Given the description of an element on the screen output the (x, y) to click on. 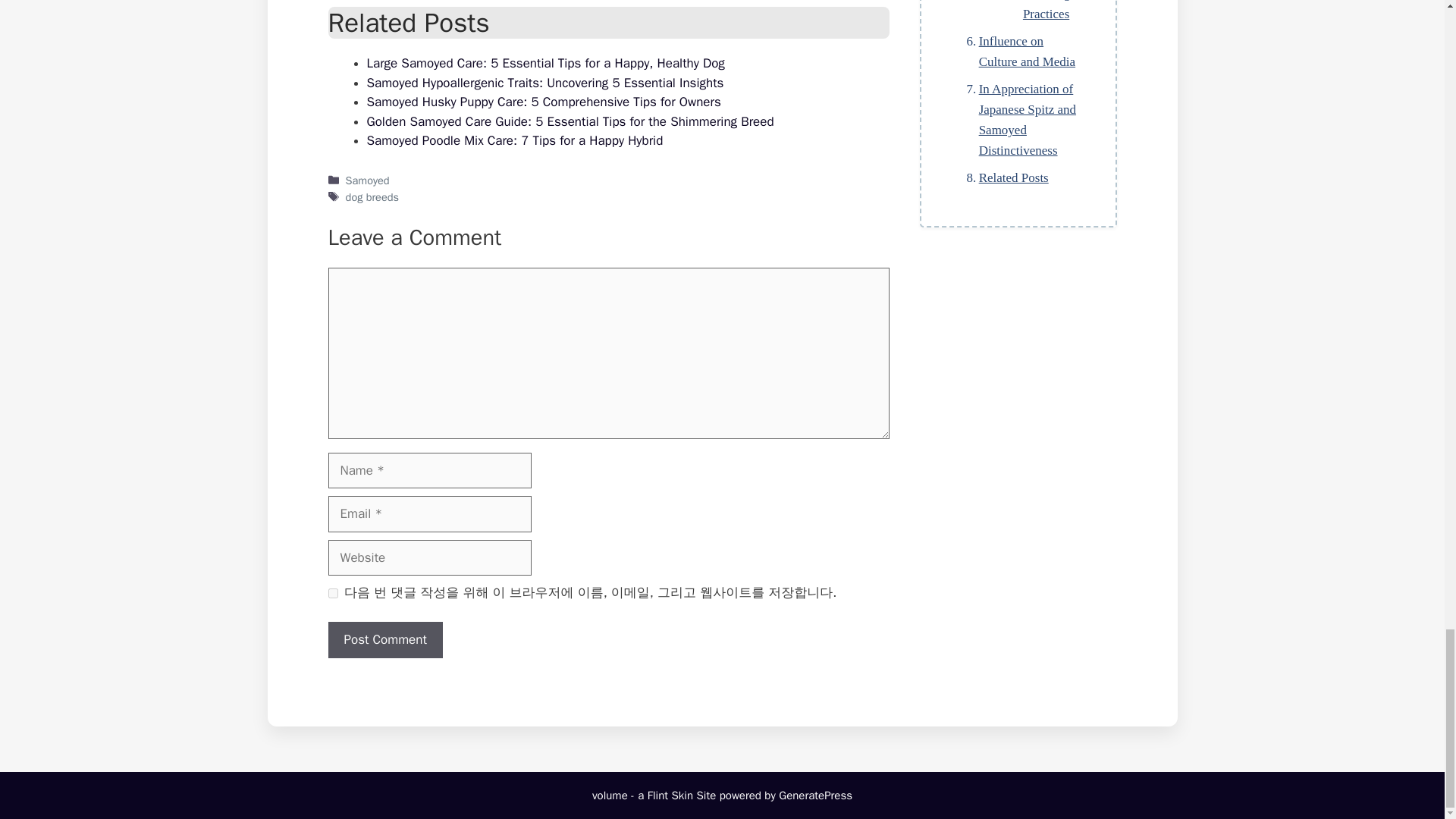
yes (332, 593)
Samoyed Husky Puppy Care: 5 Comprehensive Tips for Owners (543, 101)
Samoyed Poodle Mix Care: 7 Tips for a Happy Hybrid (514, 140)
dog breeds (372, 196)
Post Comment (384, 639)
Samoyed (368, 180)
Post Comment (384, 639)
